Given the description of an element on the screen output the (x, y) to click on. 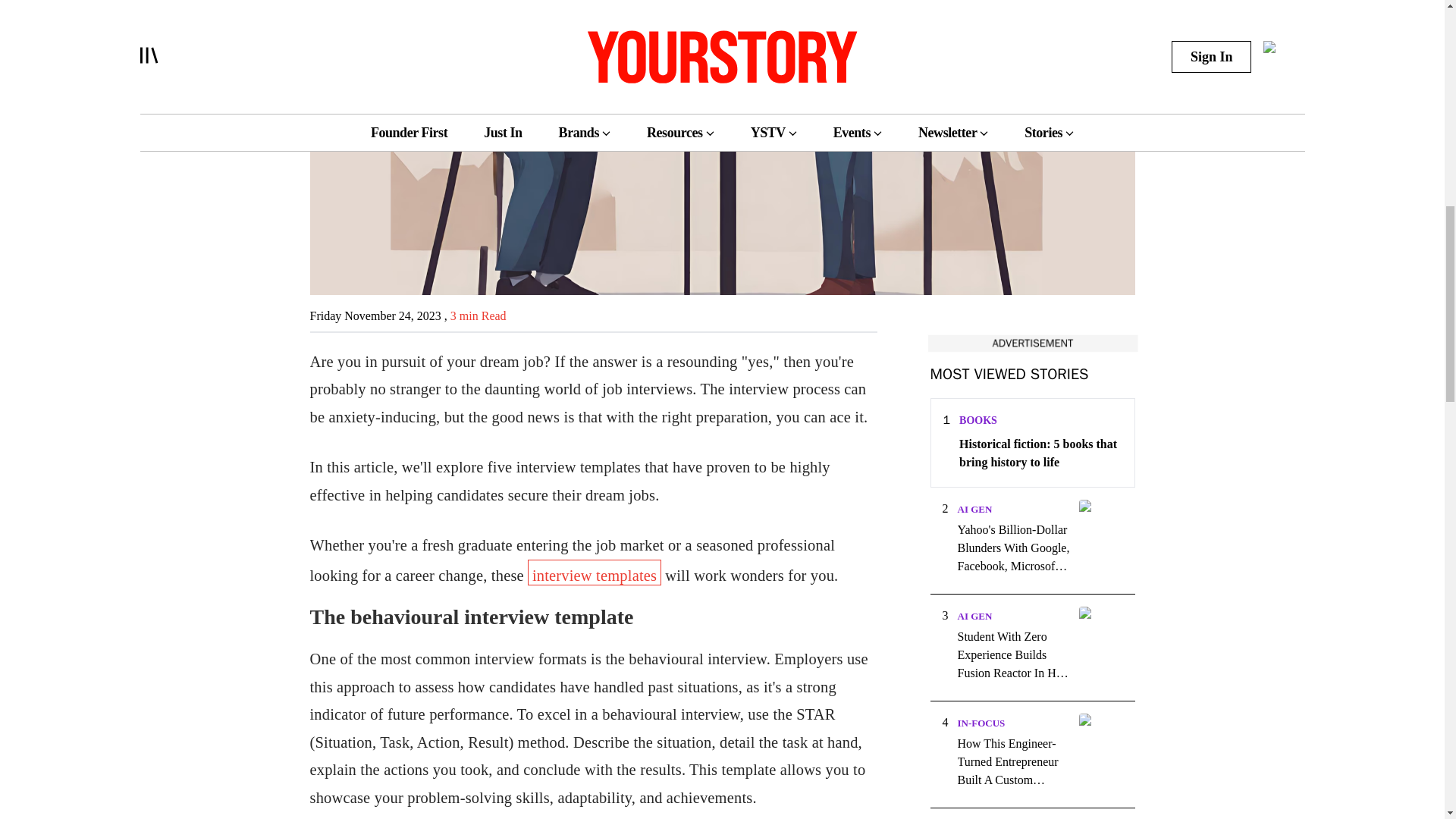
Historical fiction: 5 books that bring history to life (1040, 452)
IN-FOCUS (980, 722)
BOOKS (978, 419)
Advertise with us (1032, 342)
interview templates (594, 572)
AI GEN (973, 509)
AI GEN (973, 615)
